Given the description of an element on the screen output the (x, y) to click on. 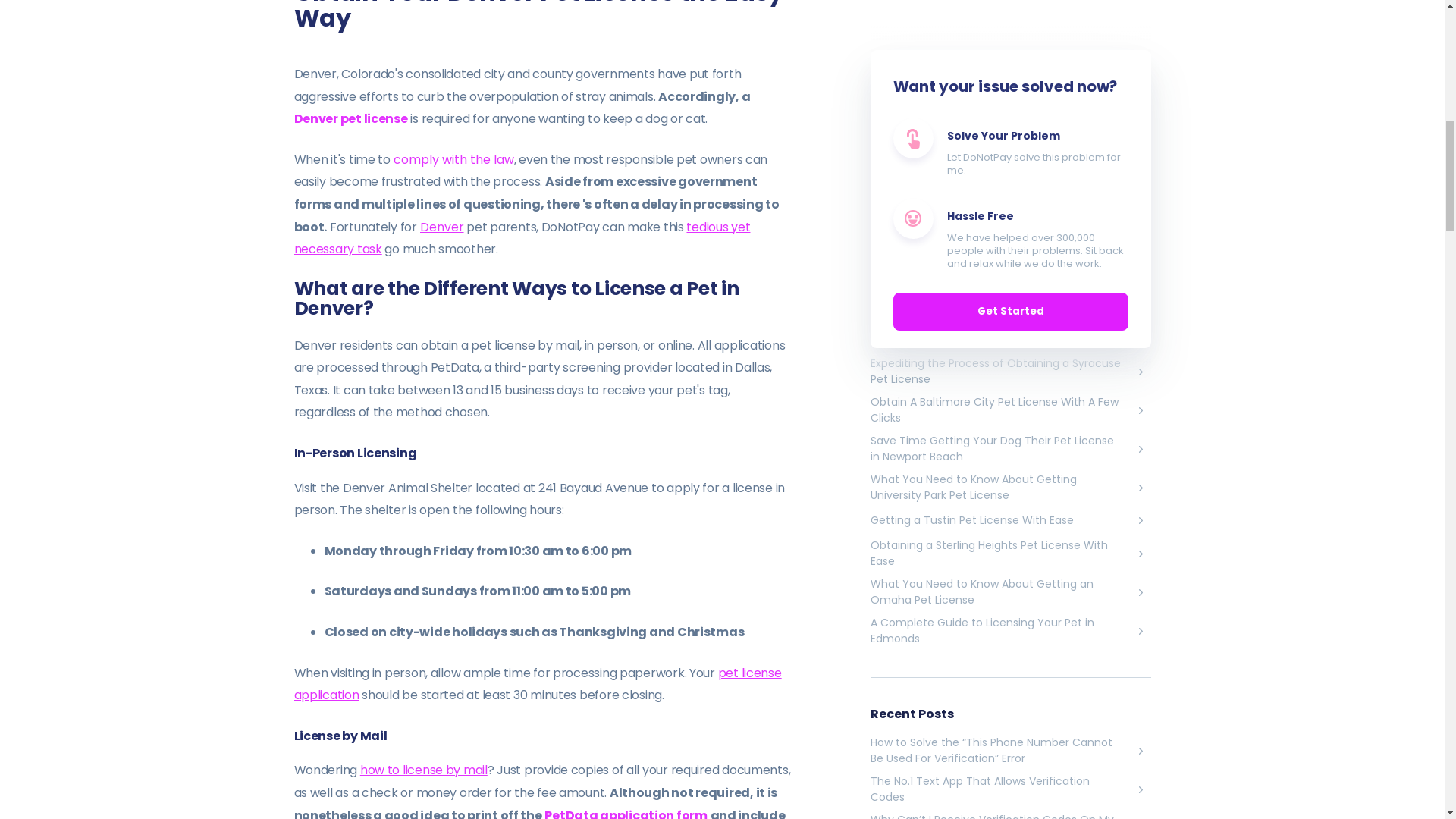
Denver (442, 226)
tedious yet necessary task (522, 238)
comply with the law (453, 158)
Denver pet license (350, 118)
pet license application (537, 684)
how to license by mail (423, 769)
PetData application form (625, 812)
